Given the description of an element on the screen output the (x, y) to click on. 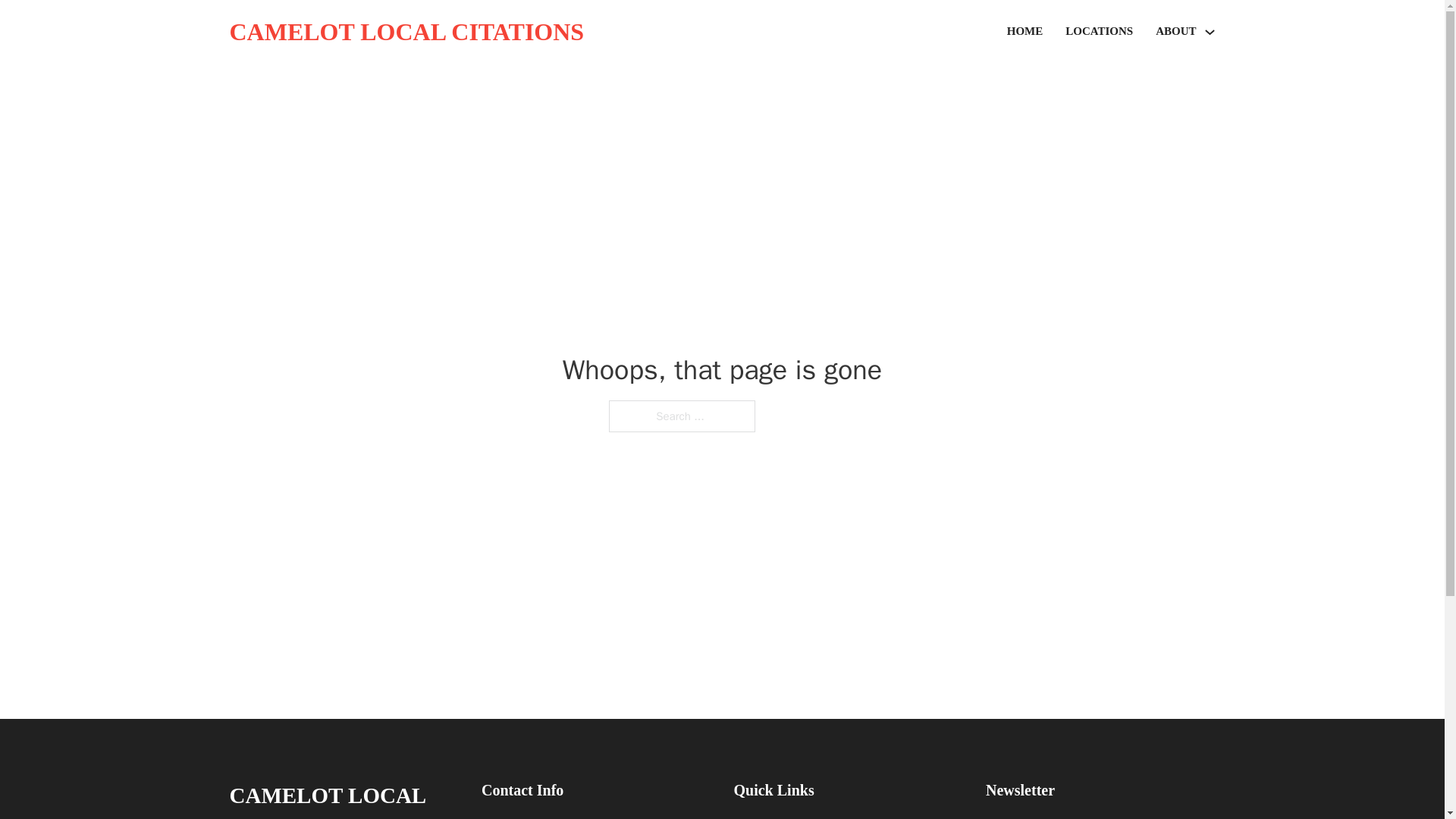
CAMELOT LOCAL CITATIONS (343, 798)
CAMELOT LOCAL CITATIONS (405, 31)
LOCATIONS (1098, 31)
HOME (1025, 31)
